Given the description of an element on the screen output the (x, y) to click on. 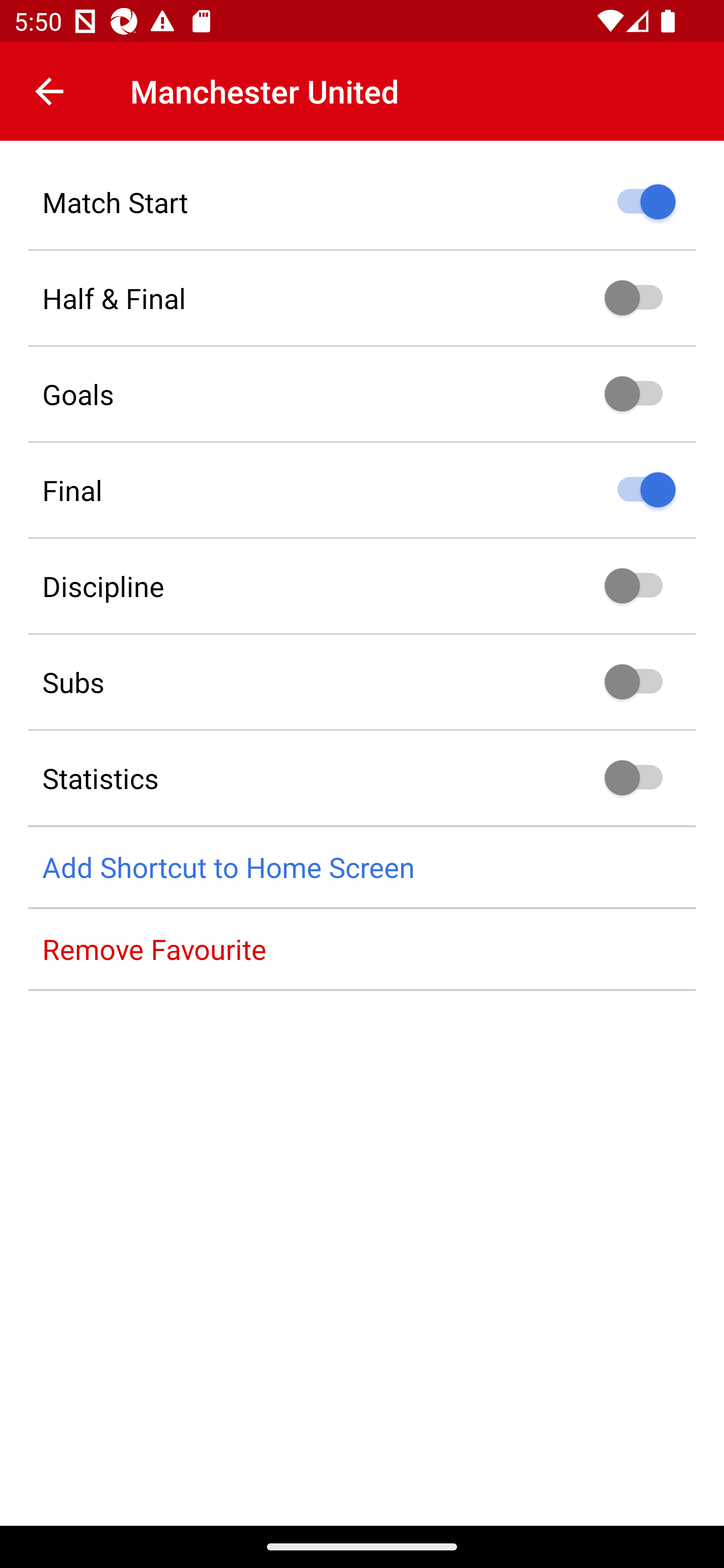
Navigate up (49, 91)
Add Shortcut to Home Screen (362, 867)
Remove Favourite (362, 948)
